Given the description of an element on the screen output the (x, y) to click on. 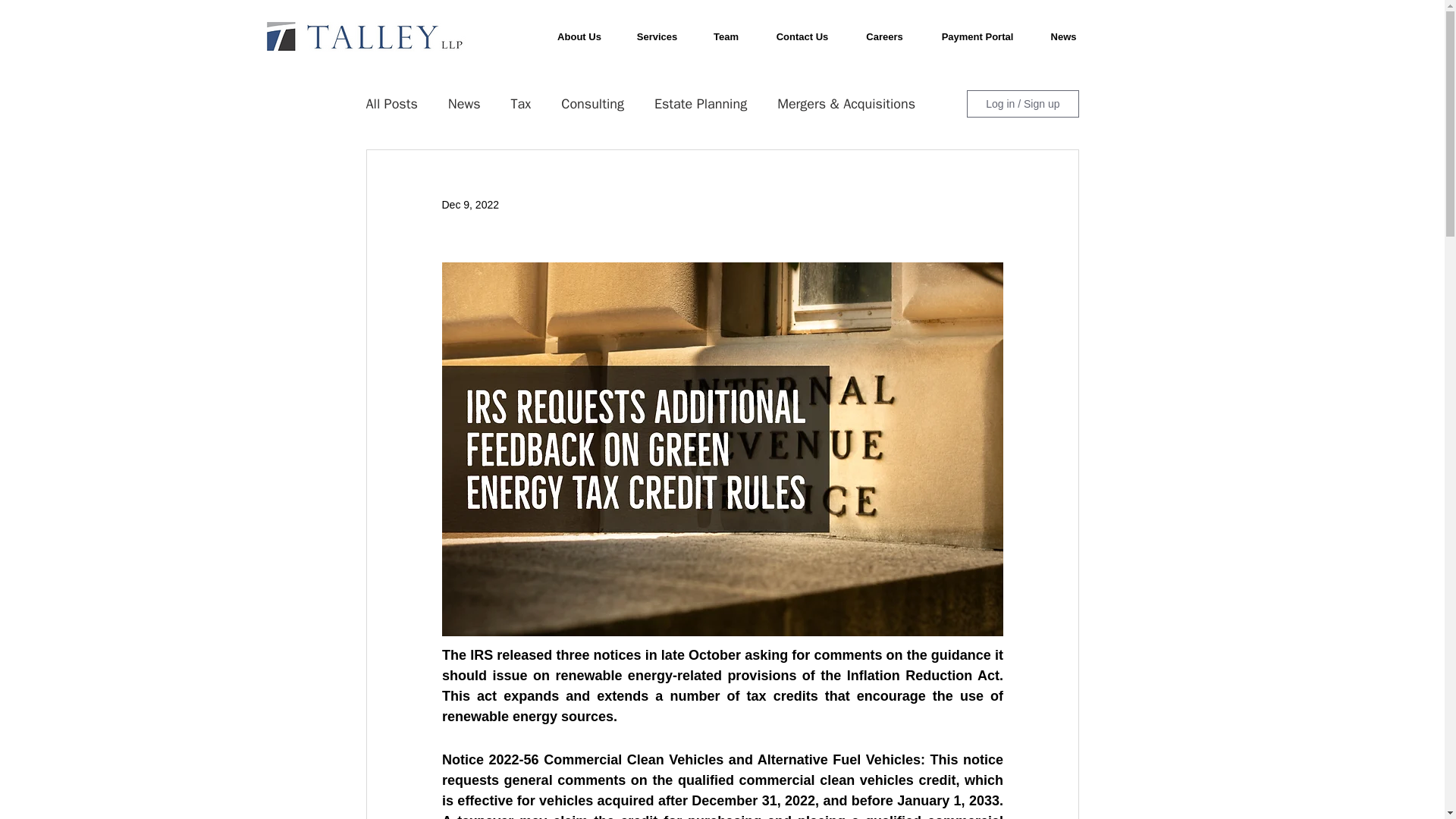
News (1062, 37)
Payment Portal (977, 37)
Careers (884, 37)
Dec 9, 2022 (470, 204)
Tax (521, 104)
Estate Planning (699, 104)
All Posts (390, 104)
About Us (580, 37)
Contact Us (802, 37)
Consulting (592, 104)
